Given the description of an element on the screen output the (x, y) to click on. 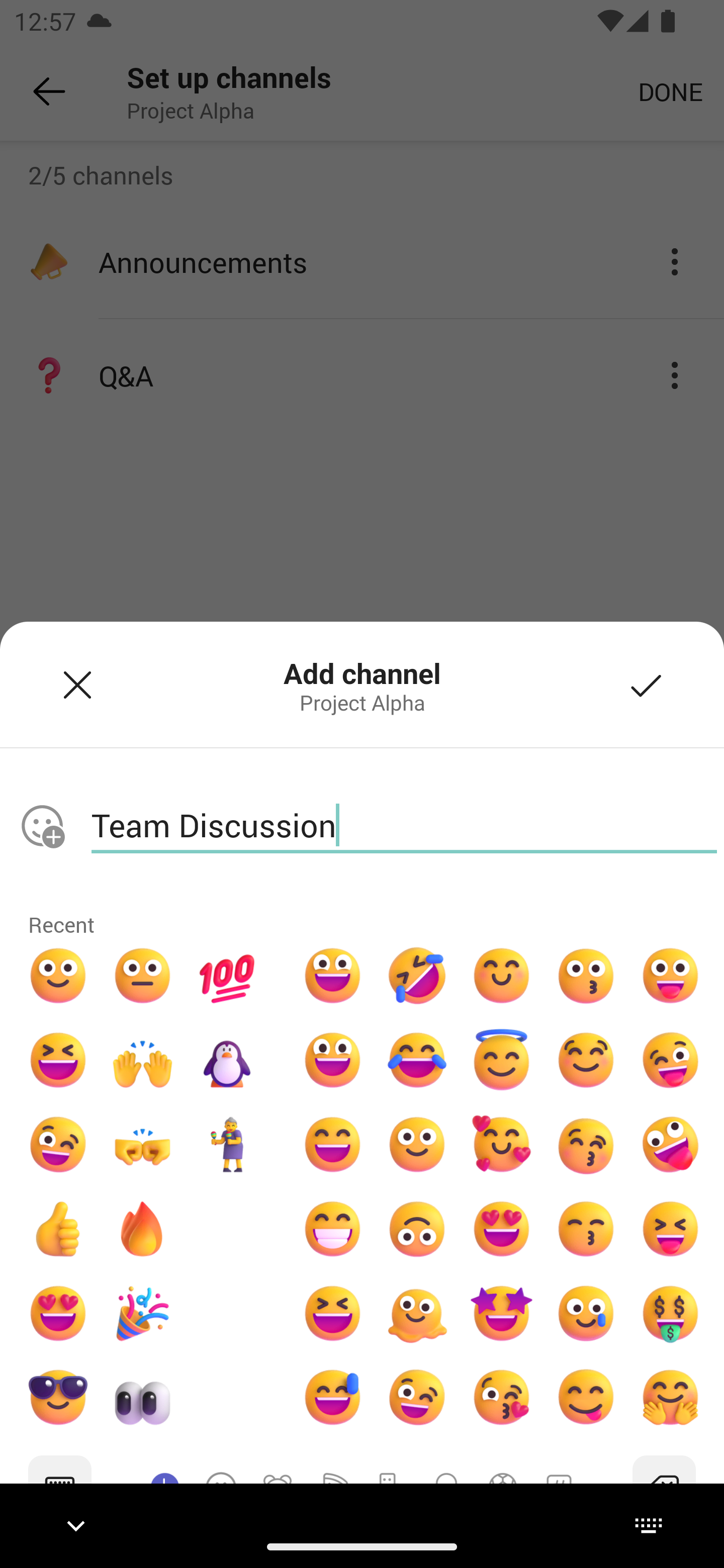
Dismiss (76, 684)
Add channel (646, 684)
No emoji selected (42, 826)
Team Discussion (404, 825)
Smile emoji (57, 975)
Speechless emoji (142, 975)
Hundred points emoji (226, 975)
Grinning face with big eyes emoji (332, 975)
Rolling on the floor laughing emoji (416, 975)
Smile eyes emoji (501, 975)
Kiss emoji (585, 975)
Face with tongue emoji (670, 975)
Laugh emoji (57, 1060)
Hands celebrating emoji (142, 1060)
Dancing penguin emoji (226, 1060)
Happy face emoji (332, 1060)
Crying with laughter emoji (416, 1060)
Angel emoji (501, 1060)
Mmmmm… emoji (585, 1060)
Winking tongue out emoji (670, 1060)
Wink emoji (57, 1144)
Fist bump emoji (142, 1144)
Dancing gran emoji (226, 1144)
Grinning face with smiling eyes emoji (332, 1144)
Smile emoji (416, 1144)
In love emoji (501, 1144)
Kissing face with closed eyes emoji (585, 1144)
Zany face emoji (670, 1144)
Yes emoji (57, 1228)
Fire emoji (142, 1228)
Beaming face with smiling eyes emoji (332, 1228)
Upside down face emoji (416, 1228)
Heart eyes emoji (501, 1228)
Kissing face with smiling eyes emoji (585, 1228)
Squinting face with tongue emoji (670, 1228)
Heart eyes emoji (57, 1313)
Party popper emoji (142, 1313)
Laugh emoji (332, 1313)
Melting face emoji (416, 1313)
Star eyes emoji (501, 1313)
Smiling face with tear emoji (585, 1313)
Money mouth face emoji (670, 1313)
Cool emoji (57, 1397)
Eyes emoji (142, 1397)
Sweat grinning emoji (332, 1397)
Wink emoji (416, 1397)
Face blowing a kiss emoji (501, 1397)
Cheeky emoji (585, 1397)
Hugging face emoji (670, 1397)
